Given the description of an element on the screen output the (x, y) to click on. 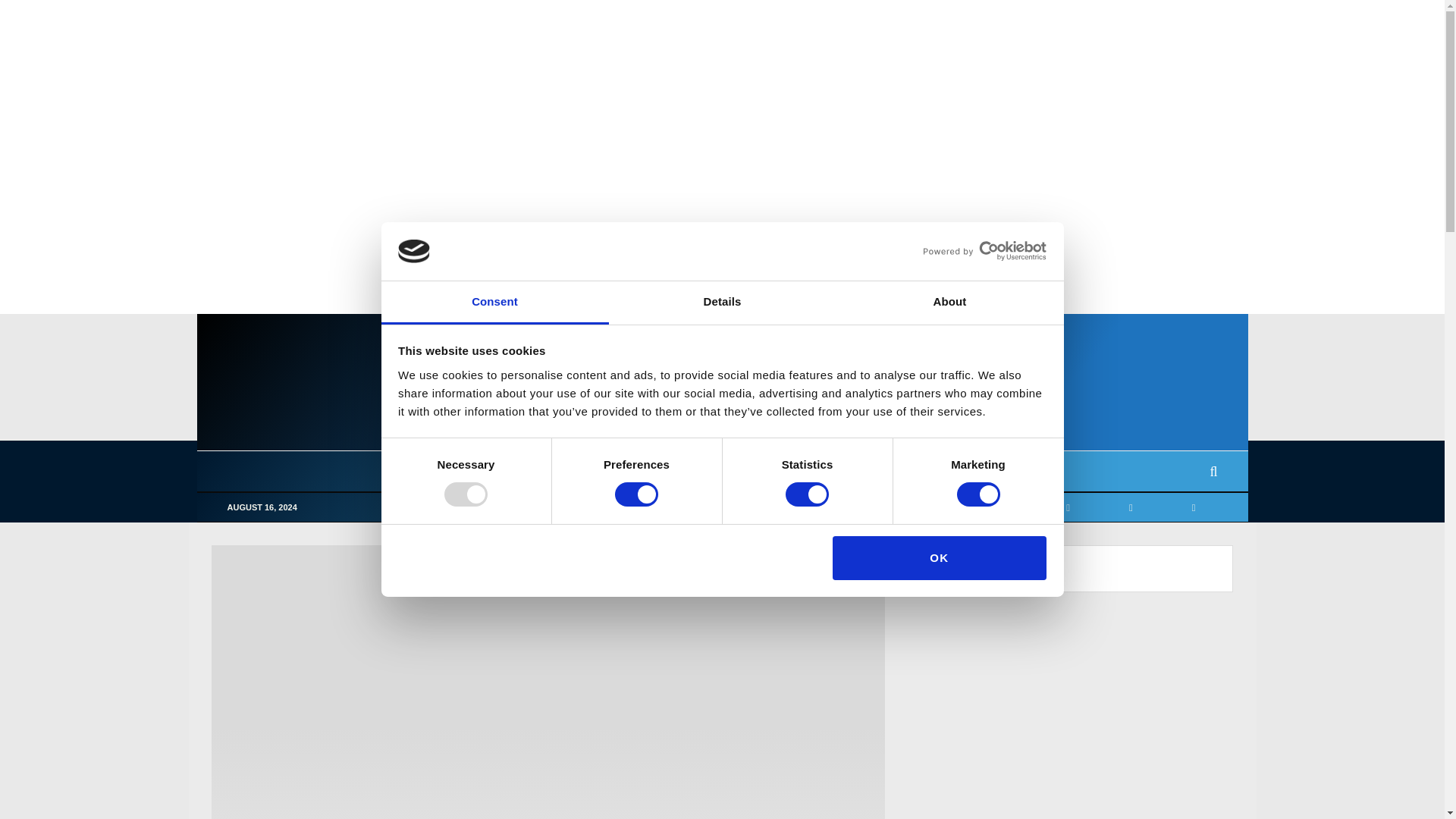
About (948, 302)
Details (721, 302)
Consent (494, 302)
